Given the description of an element on the screen output the (x, y) to click on. 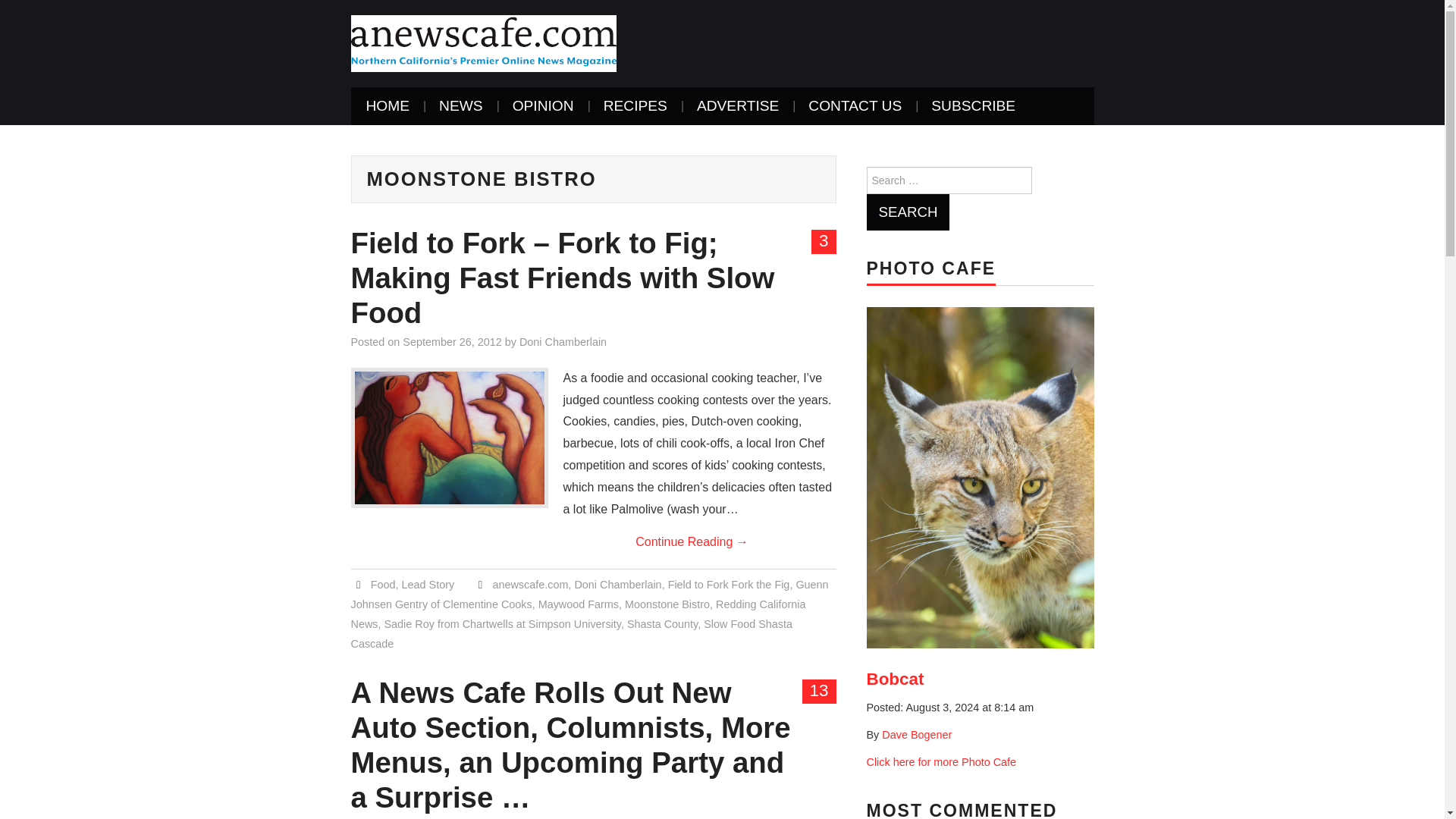
Field to Fork Fork the Fig (729, 584)
Moonstone Bistro (667, 604)
anewscafe.com (482, 42)
Guenn Johnsen Gentry of Clementine Cooks (589, 594)
Redding California News (577, 613)
3 (822, 241)
View all posts by Doni Chamberlain (563, 341)
ADVERTISE (737, 105)
HOME (387, 105)
Doni Chamberlain (563, 341)
